Given the description of an element on the screen output the (x, y) to click on. 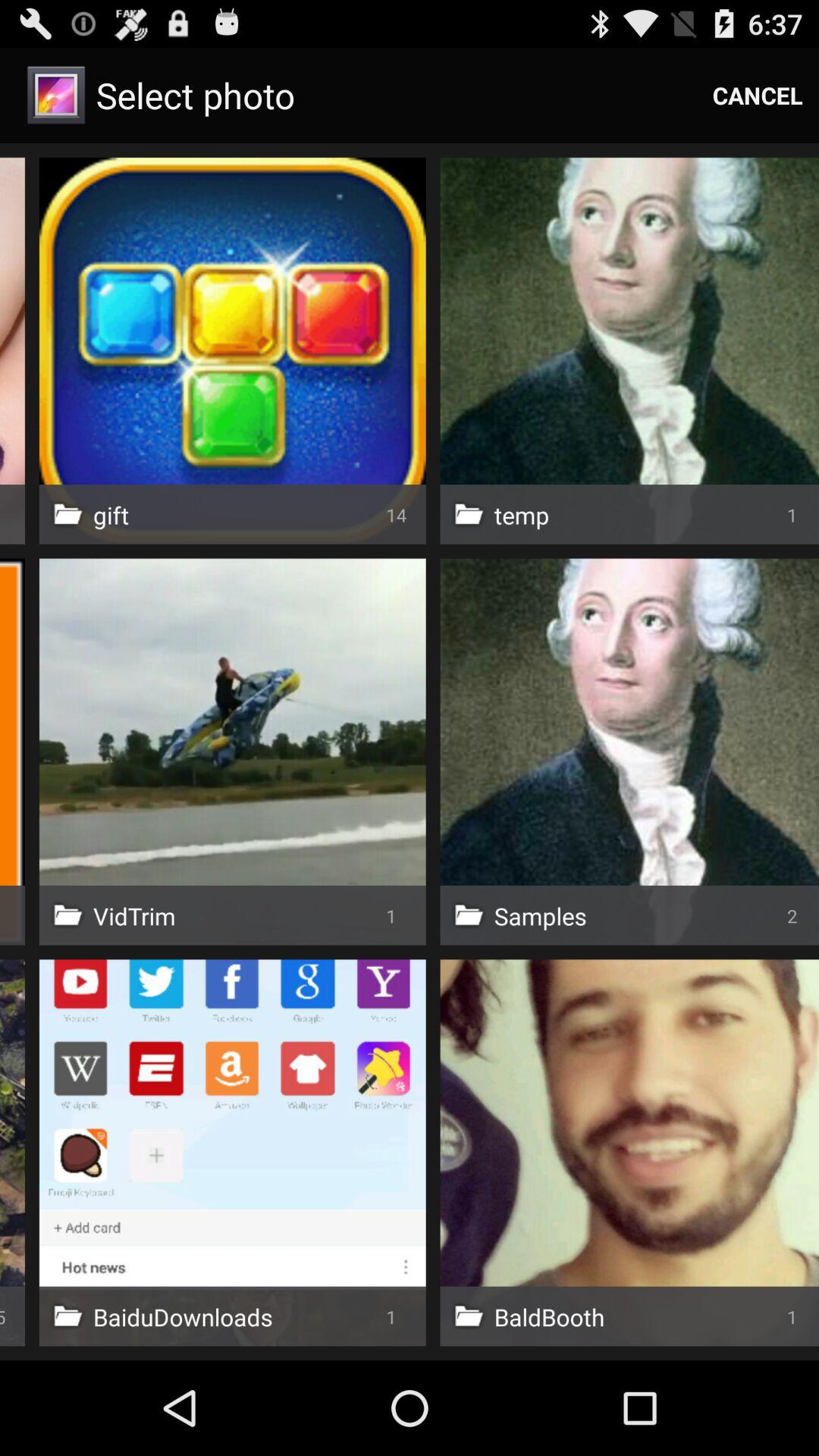
launch the cancel icon (757, 95)
